Given the description of an element on the screen output the (x, y) to click on. 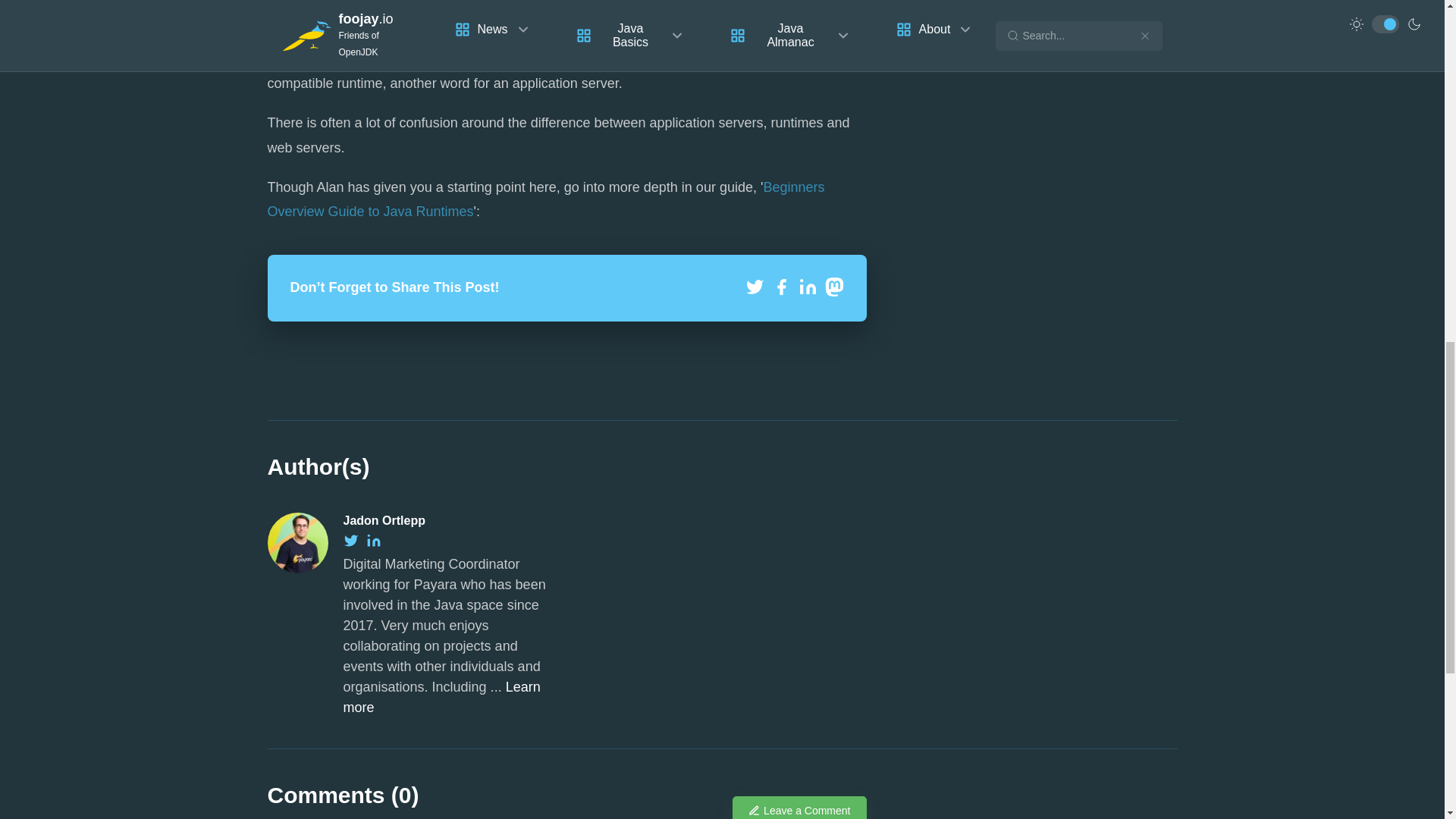
Jakarta EE. (622, 18)
Beginners Overview Guide to Java Runtimes (545, 199)
Jadon Ortlepp (383, 520)
